Given the description of an element on the screen output the (x, y) to click on. 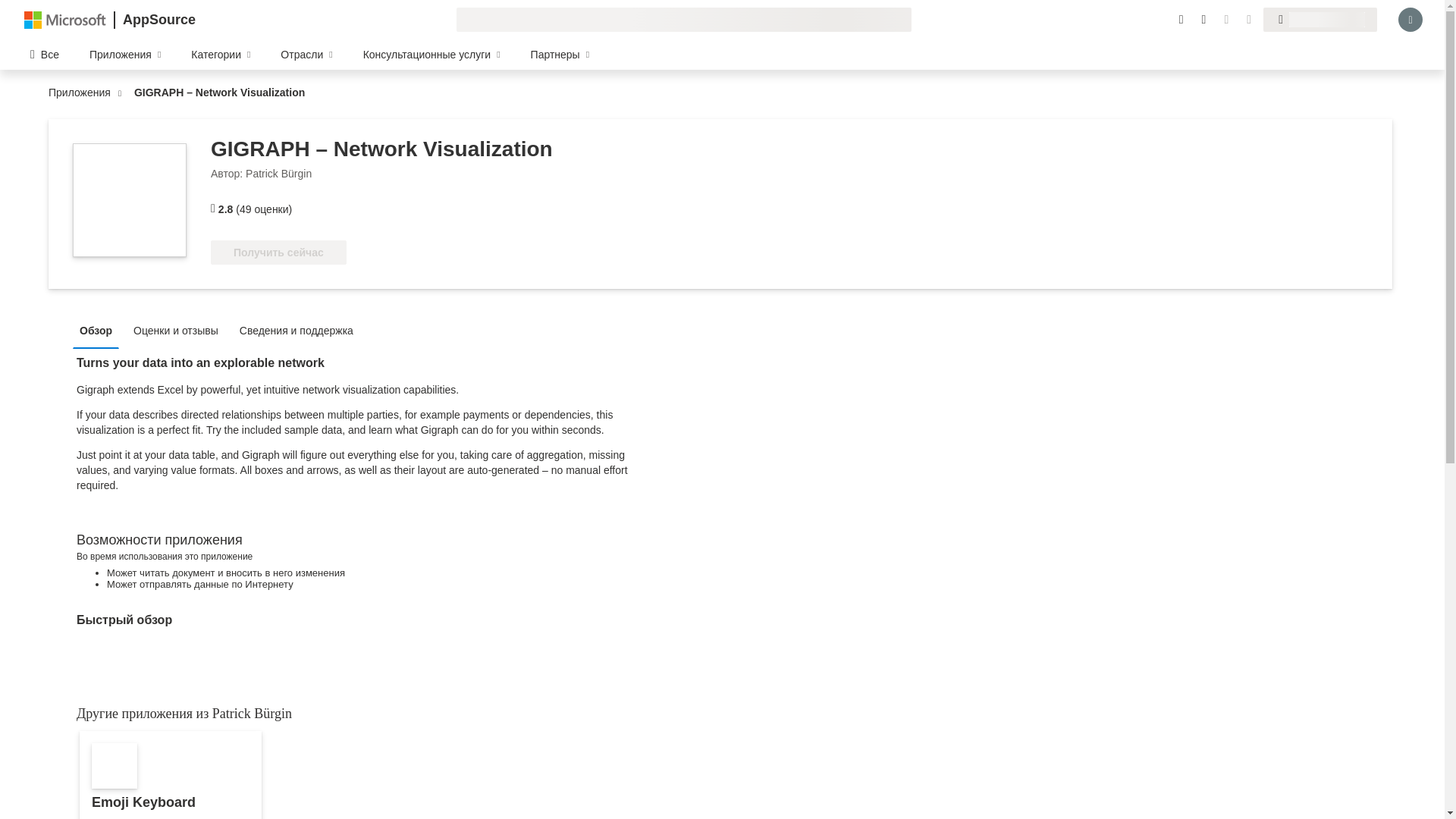
Emoji Keyboard (171, 775)
AppSource (158, 19)
Microsoft (65, 18)
